Given the description of an element on the screen output the (x, y) to click on. 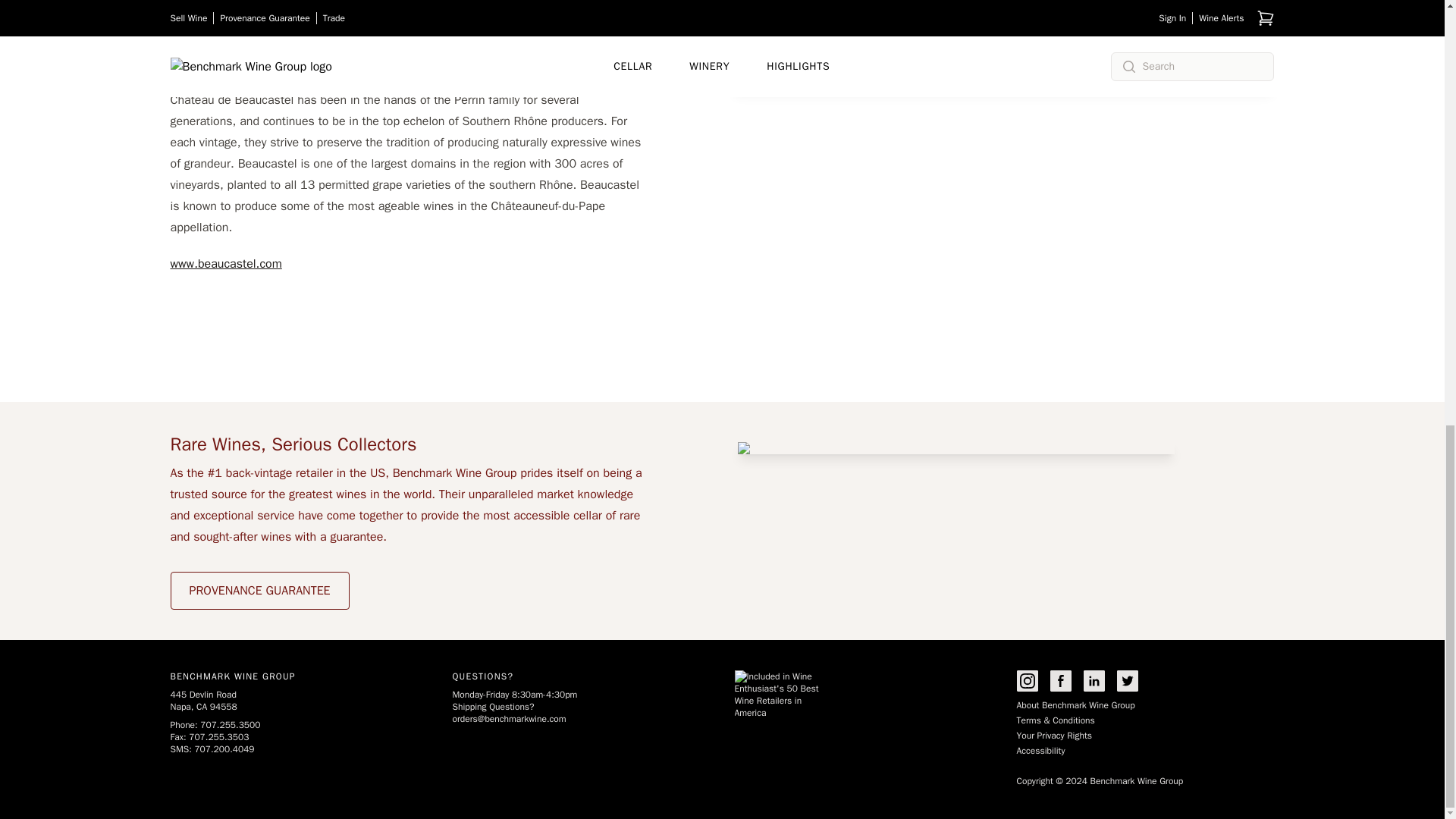
www.beaucastel.com (225, 263)
The Wine Advocate (780, 38)
Facebook Page (1059, 680)
Accessibility (1040, 750)
PROVENANCE GUARANTEE (259, 590)
Favorite (778, 64)
Guigal Cote Rotie La Mouline 1991 (867, 2)
Add to cart (1217, 19)
About Benchmark Wine Group (1075, 705)
Your Privacy Rights (1053, 735)
Twitter Profile (1126, 680)
Instagram Profile (1026, 680)
LinkedIn Company Page (1093, 680)
